Given the description of an element on the screen output the (x, y) to click on. 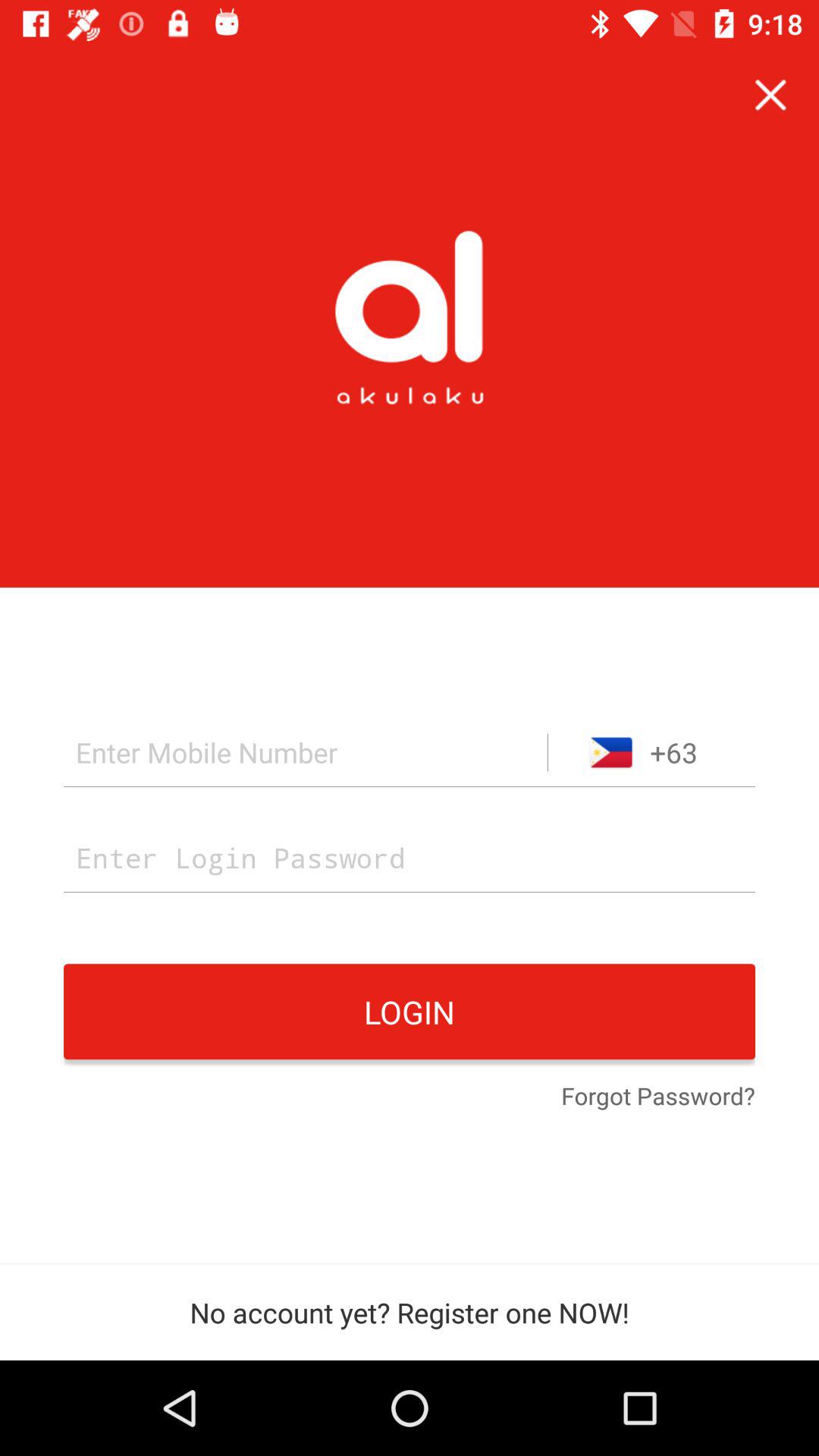
a slot to enter mobile number (305, 752)
